Given the description of an element on the screen output the (x, y) to click on. 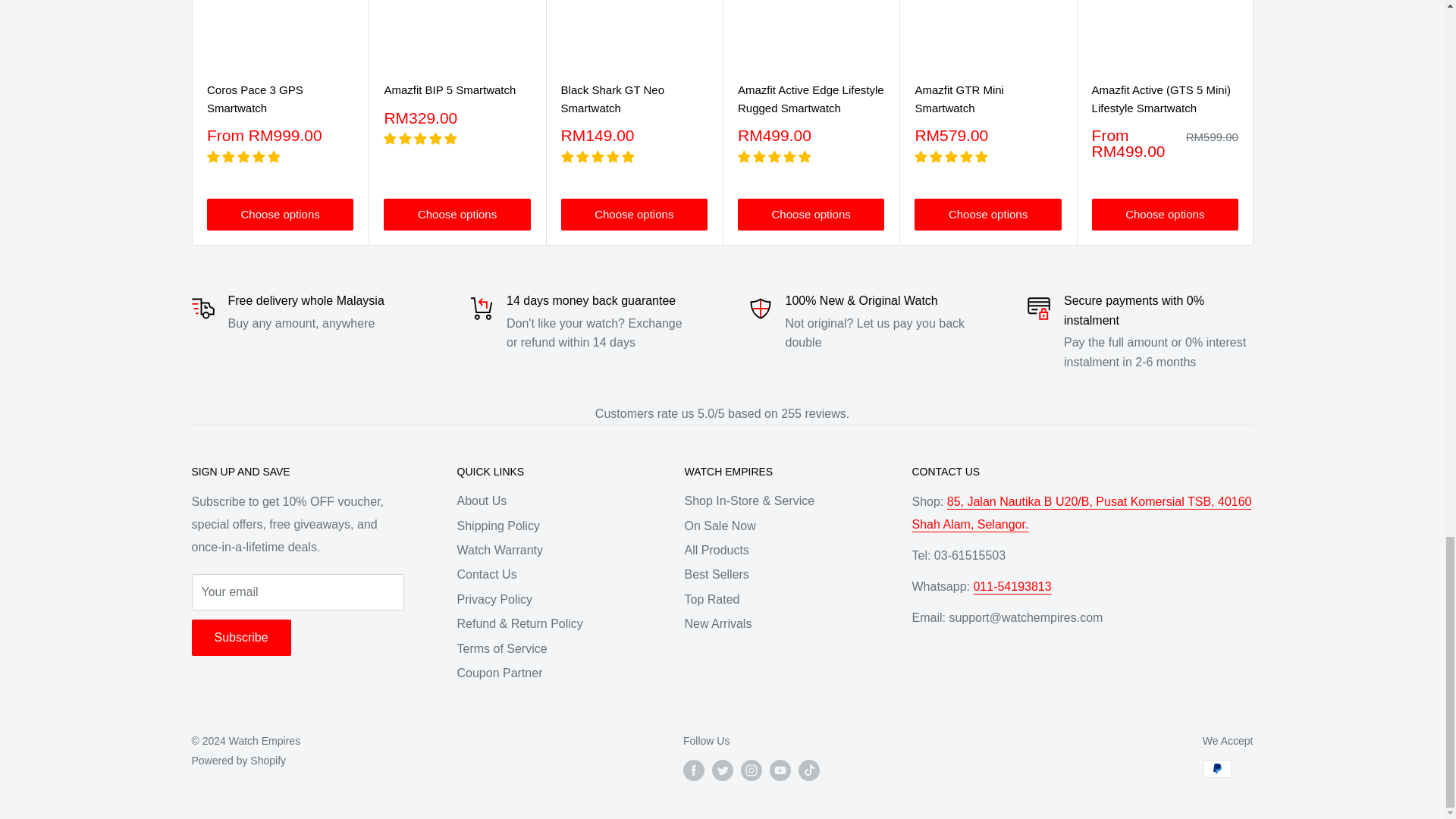
Show the way to our shop (1080, 512)
